Given the description of an element on the screen output the (x, y) to click on. 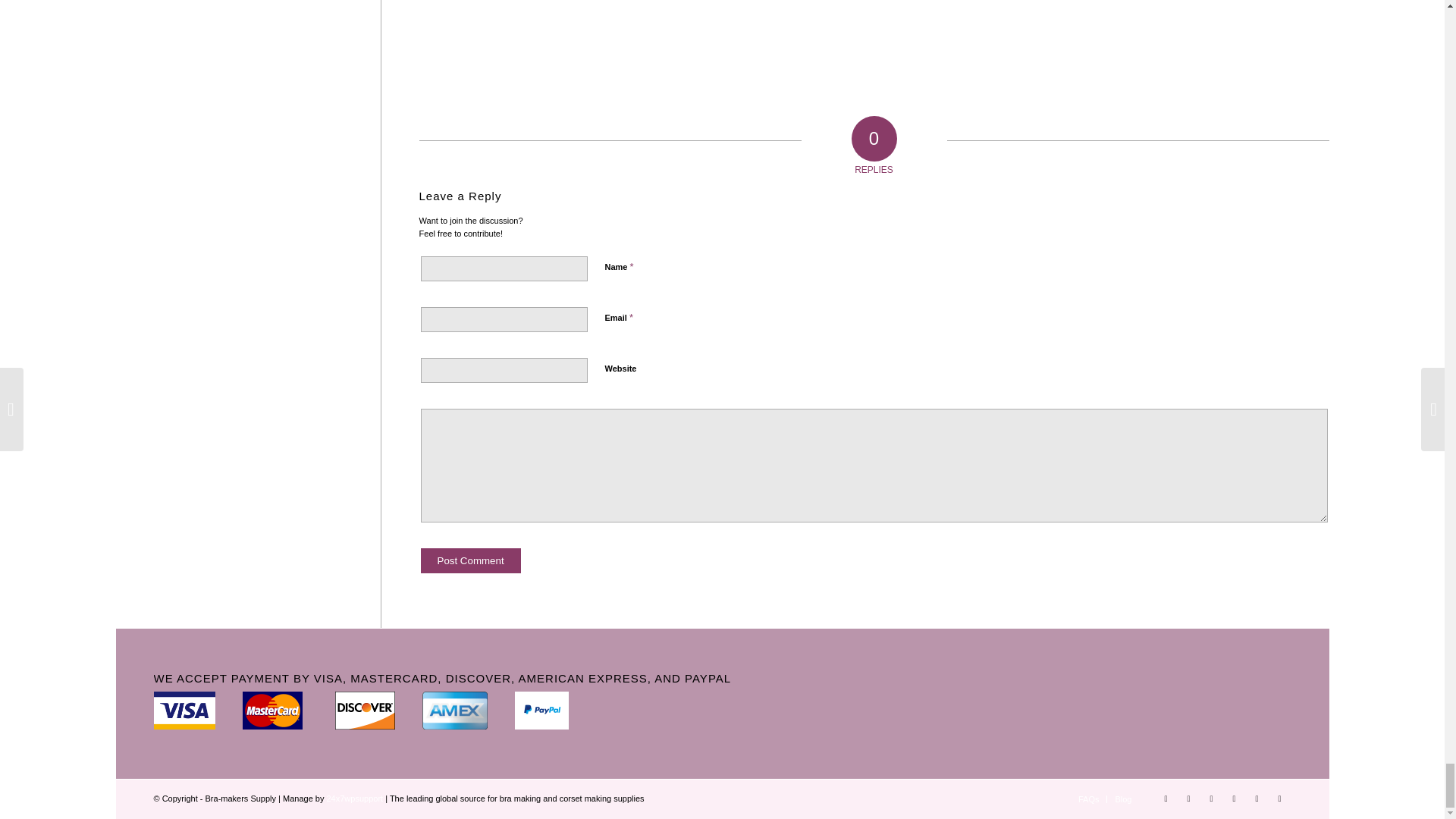
Post Comment (469, 560)
